Given the description of an element on the screen output the (x, y) to click on. 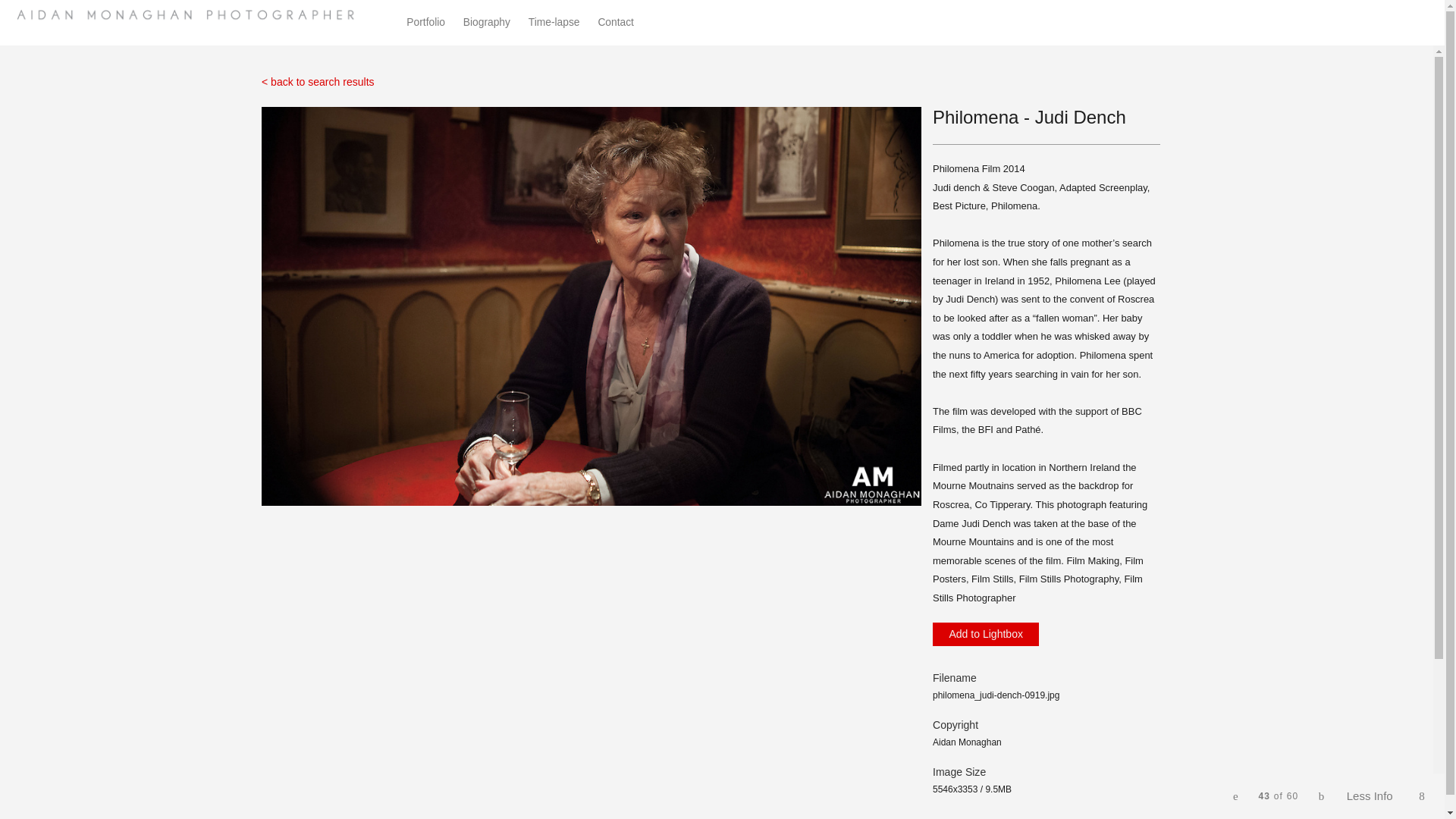
Aidan Monaghan Belfast Photographer (191, 15)
Time-lapse (553, 21)
Add to Lightbox (986, 634)
Biography (487, 21)
Contact (614, 21)
Info (1371, 796)
back to search results (318, 81)
Portfolio Biography Time-lapse Contact (527, 23)
Aidan Monaghan Belfast Photographer (191, 15)
Portfolio (425, 21)
Info (1371, 796)
